Given the description of an element on the screen output the (x, y) to click on. 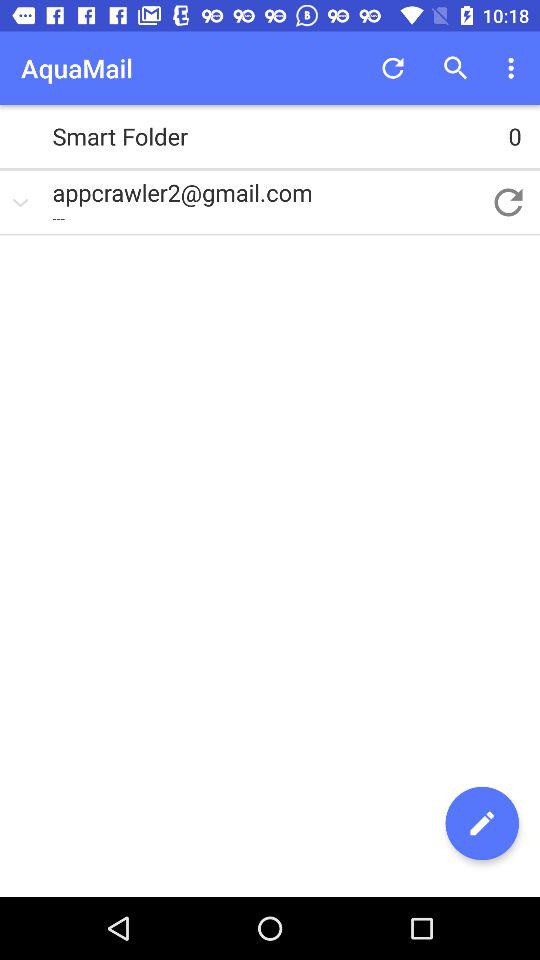
choose item next to the appcrawler2@gmail.com item (508, 202)
